Given the description of an element on the screen output the (x, y) to click on. 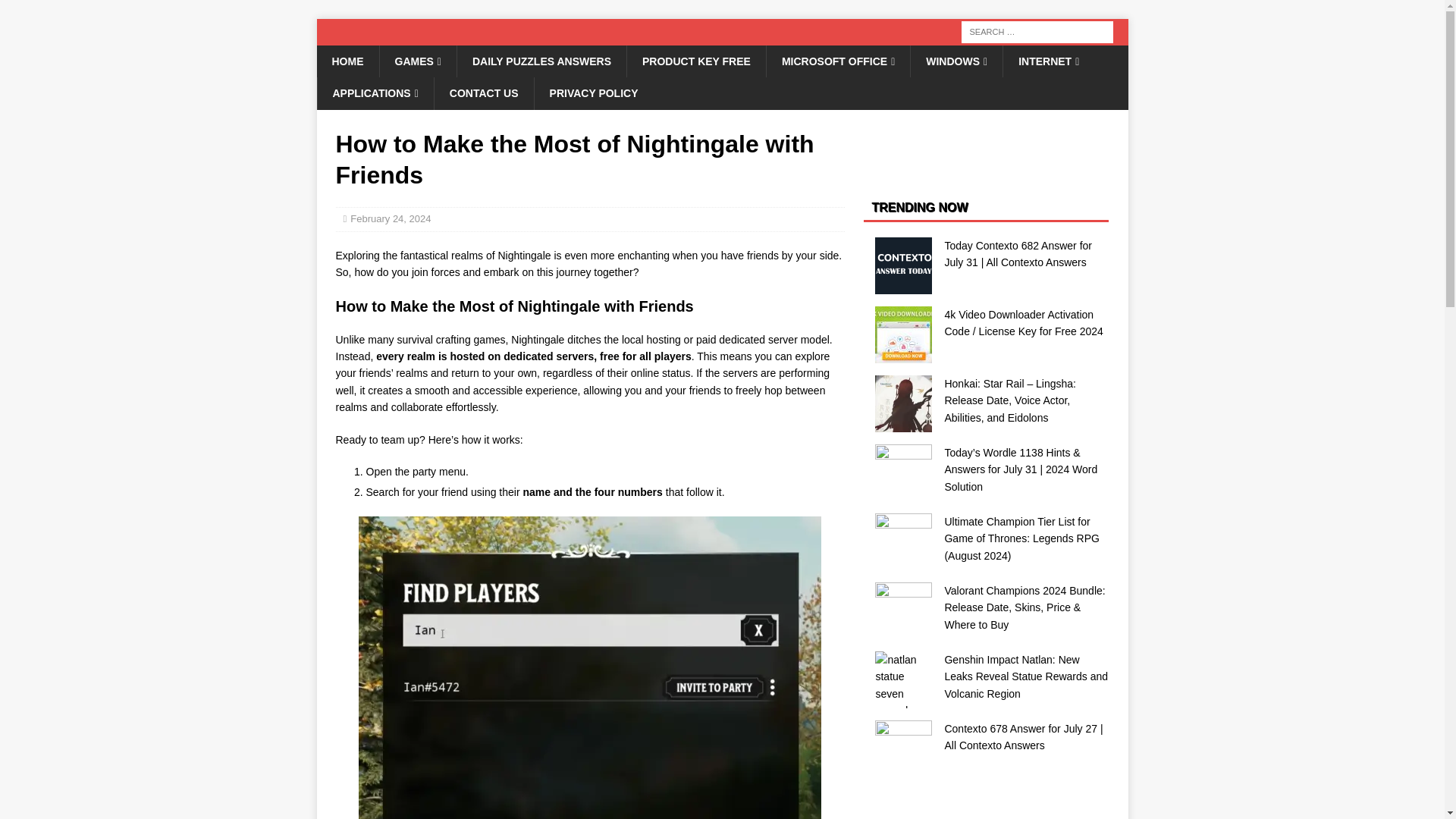
Search (56, 11)
